Given the description of an element on the screen output the (x, y) to click on. 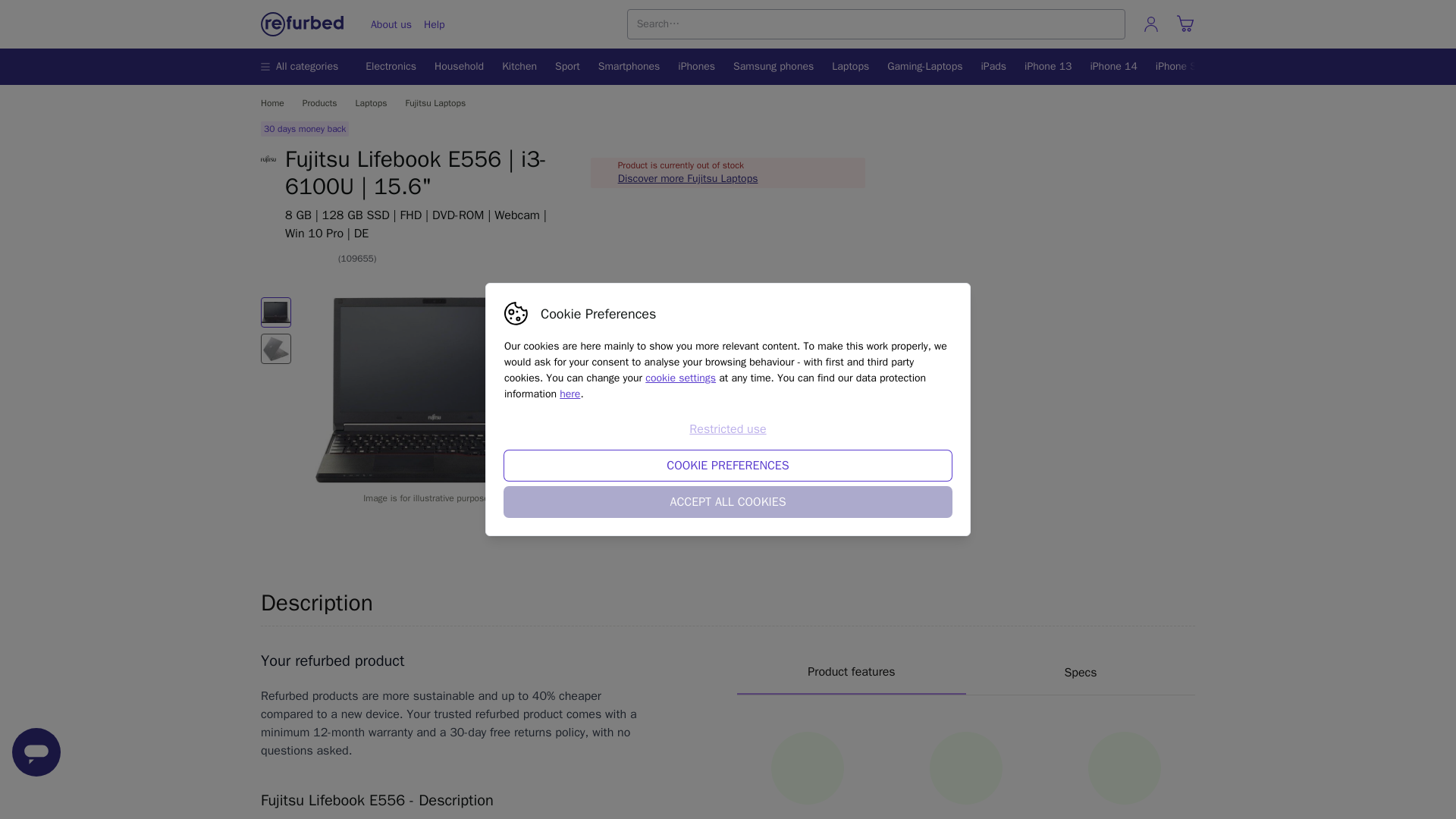
Gaming-Laptops (924, 66)
Electronics (395, 66)
iPads (994, 66)
All categories (303, 66)
About us (391, 24)
iPhone 13 (966, 672)
iPhone 14 (1047, 66)
Sport (1112, 66)
Laptops (567, 66)
